Given the description of an element on the screen output the (x, y) to click on. 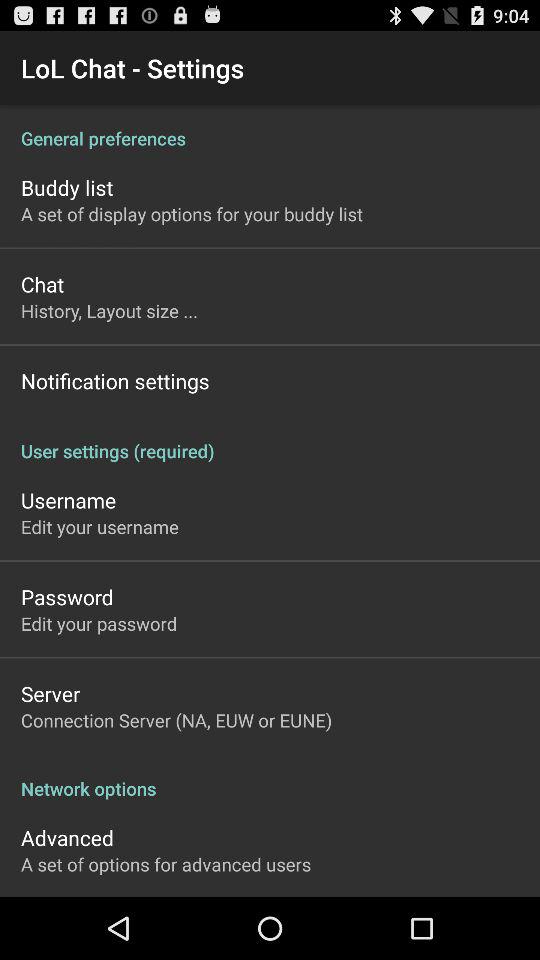
launch the icon above notification settings icon (109, 310)
